Given the description of an element on the screen output the (x, y) to click on. 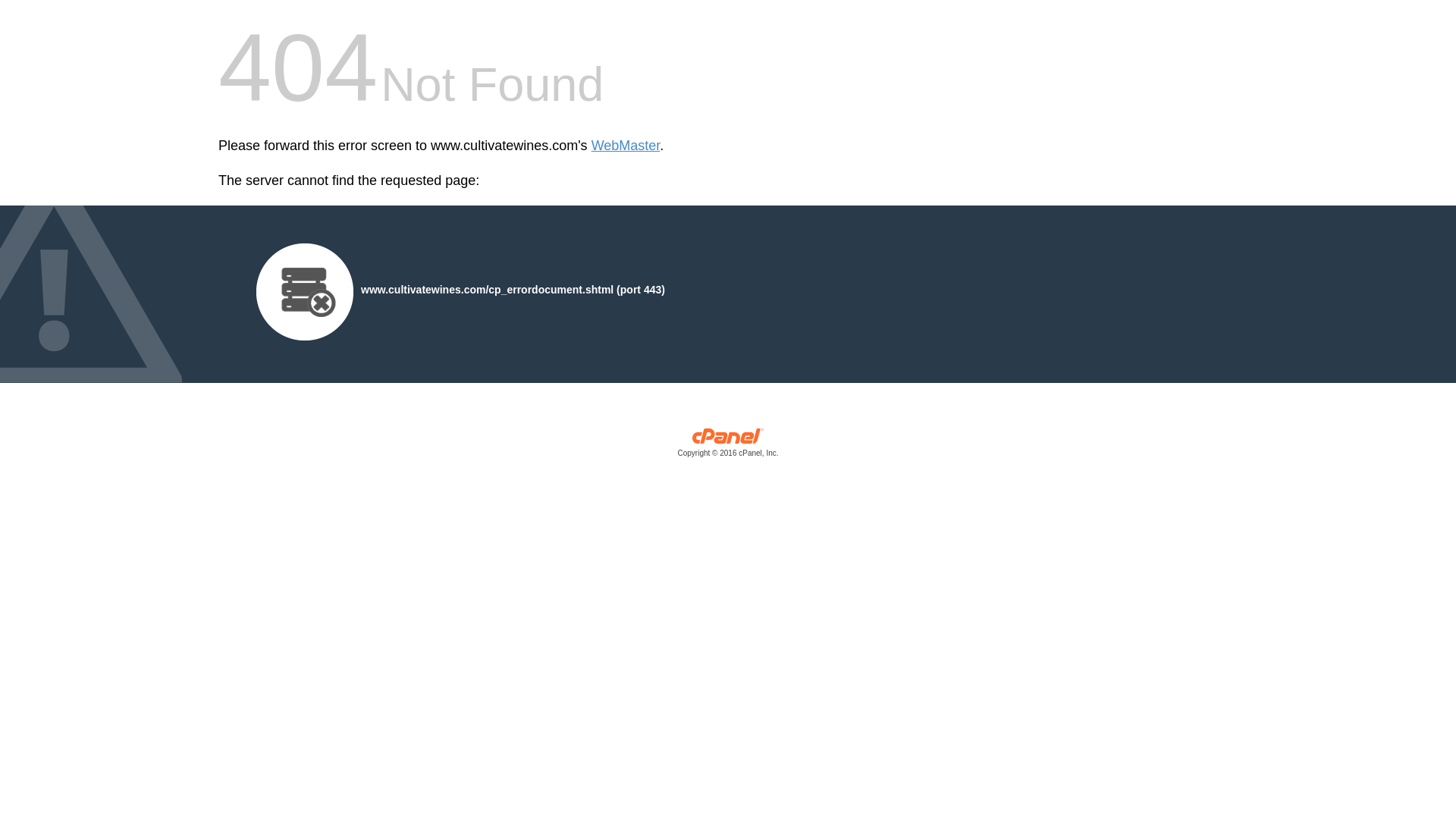
cPanel, Inc. (727, 446)
WebMaster (626, 145)
